Given the description of an element on the screen output the (x, y) to click on. 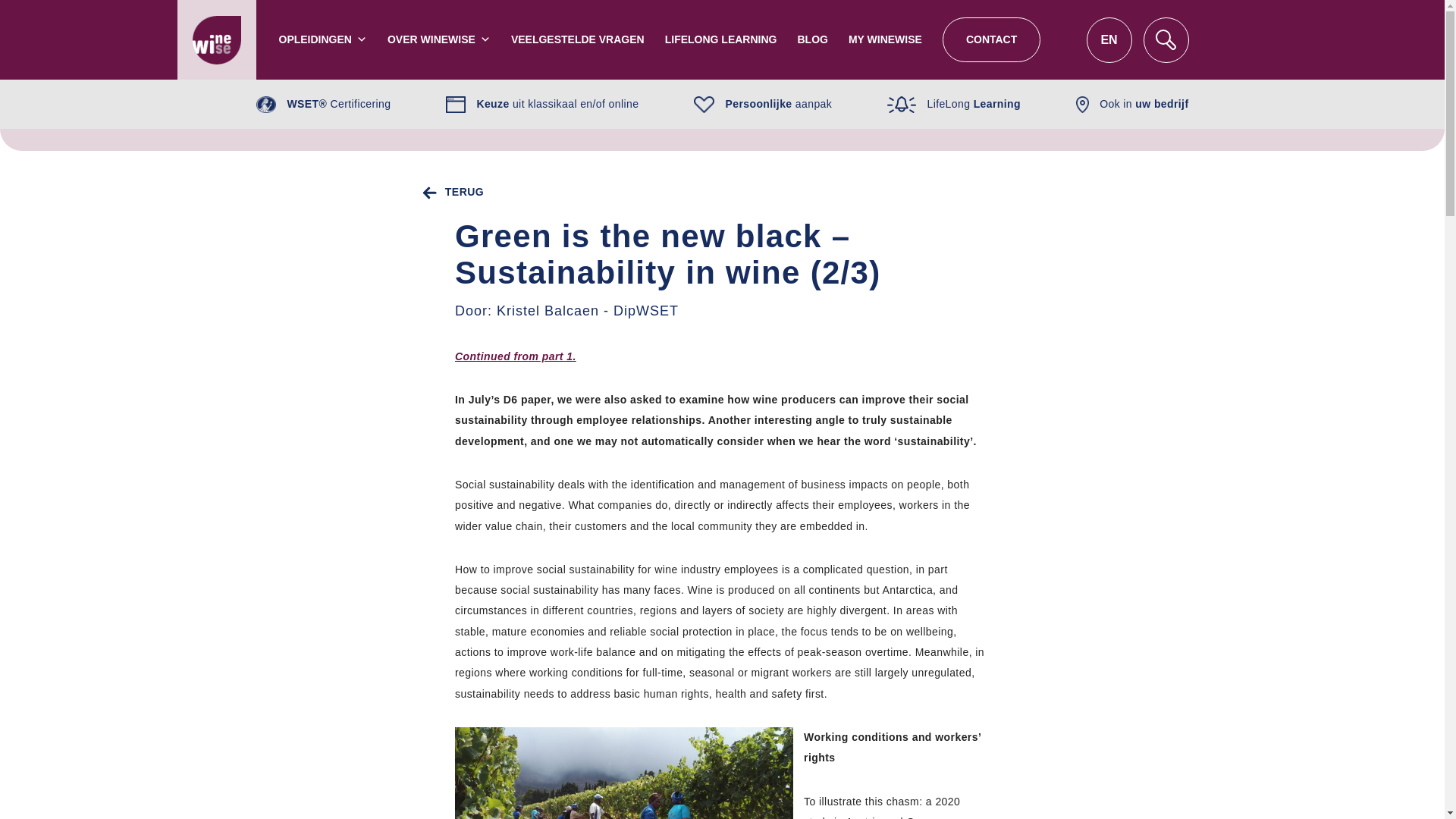
Continued from part 1. (515, 356)
CONTACT (991, 40)
VEELGESTELDE VRAGEN (578, 39)
OPLEIDINGEN (322, 39)
MY WINEWISE (884, 39)
LIFELONG LEARNING (721, 39)
OVER WINEWISE (438, 39)
TERUG (449, 191)
